Given the description of an element on the screen output the (x, y) to click on. 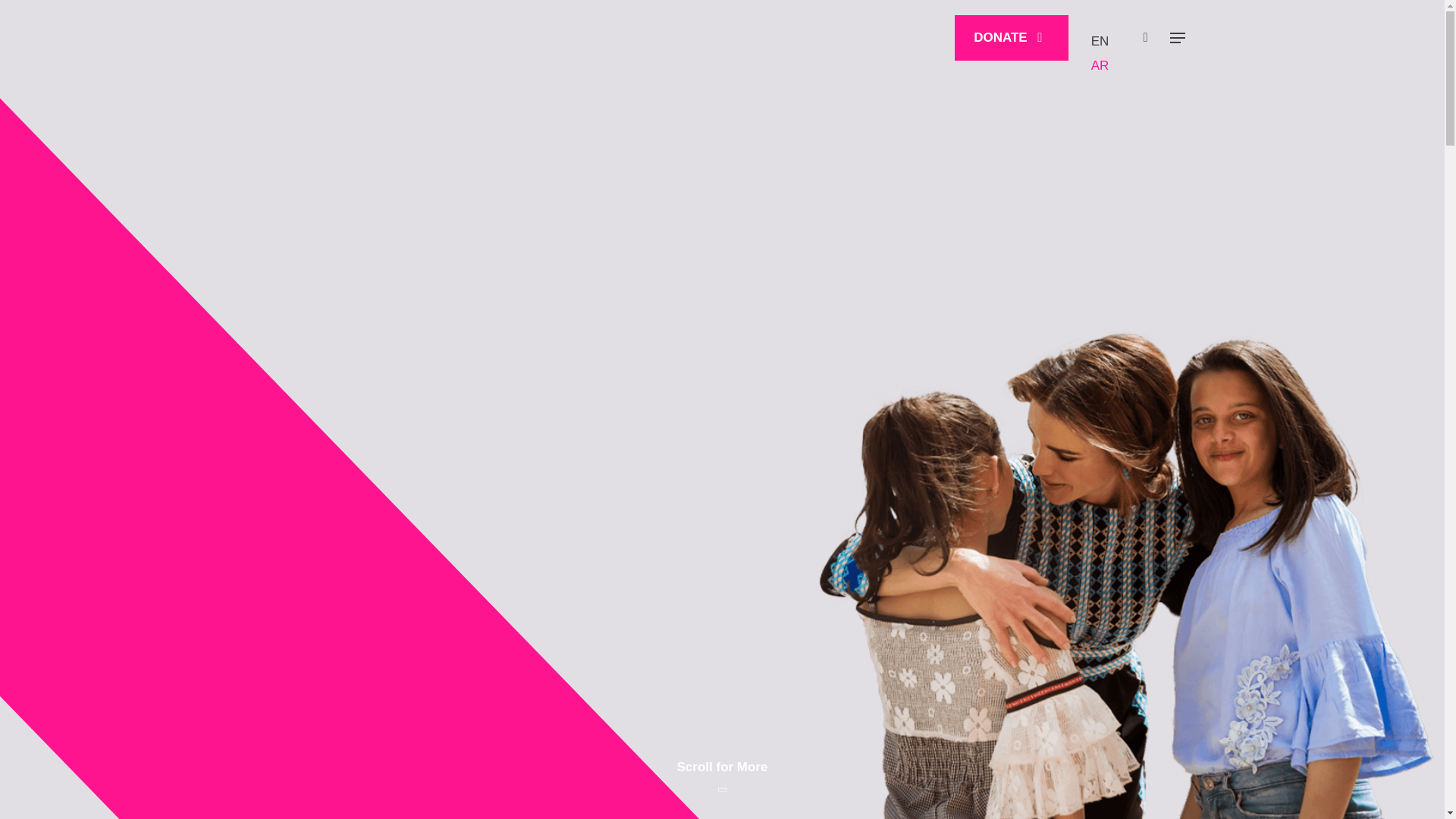
Queen Rania Foundation (319, 38)
Scroll for More (722, 766)
Scroll for More (722, 766)
DONATE (1011, 37)
Scroll to Main Content (722, 766)
